Given the description of an element on the screen output the (x, y) to click on. 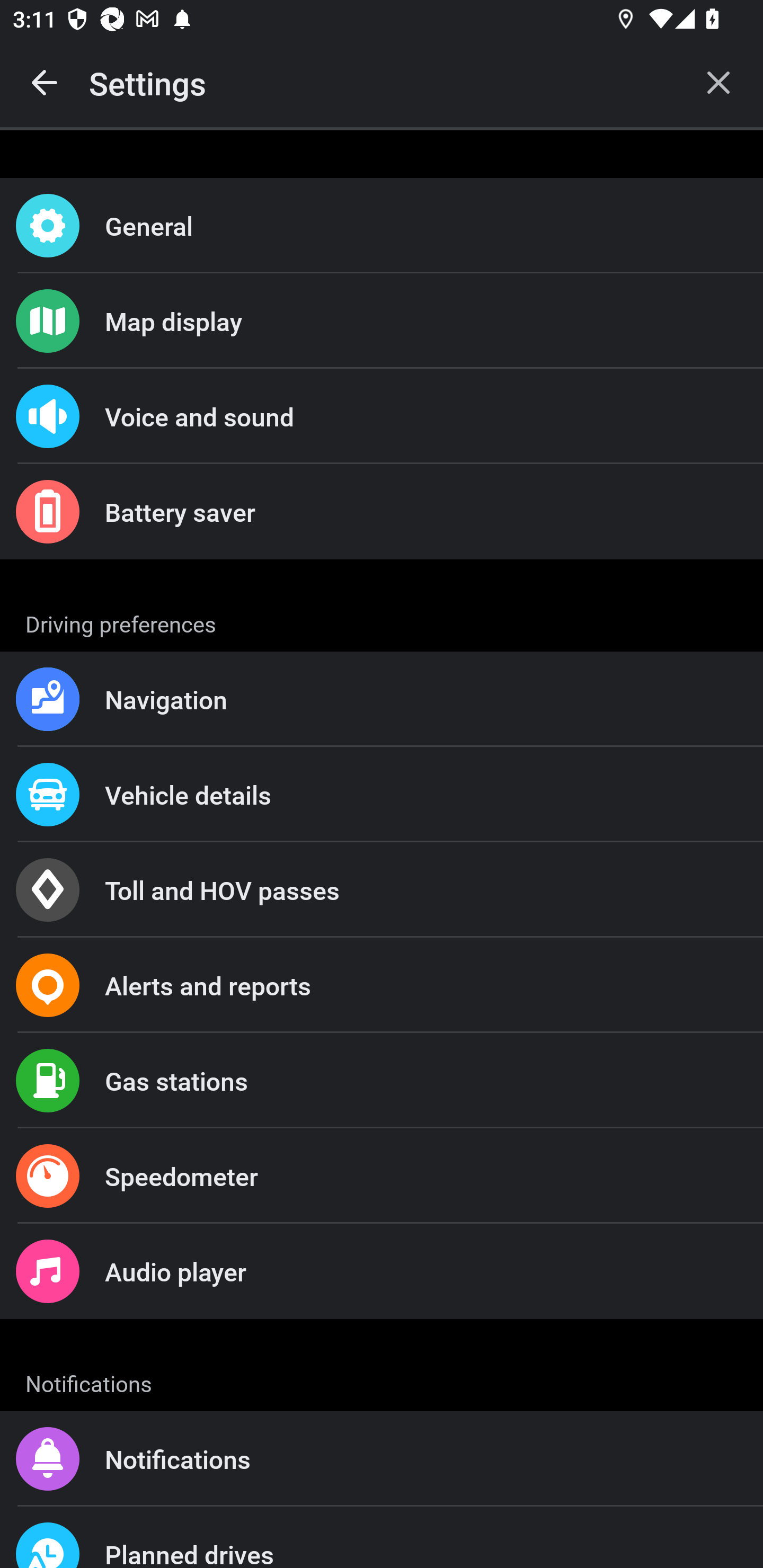
General (381, 225)
Map display (381, 320)
Voice and sound (381, 416)
Battery saver (381, 511)
ACTION_CELL_ICON Settings ACTION_CELL_TEXT (381, 620)
Navigation (381, 699)
Vehicle details (381, 794)
Toll and HOV passes (381, 889)
Alerts and reports (381, 985)
Gas stations (381, 1080)
Speedometer (381, 1175)
Audio player (381, 1270)
Notifications (381, 1458)
Planned drives (381, 1537)
